Given the description of an element on the screen output the (x, y) to click on. 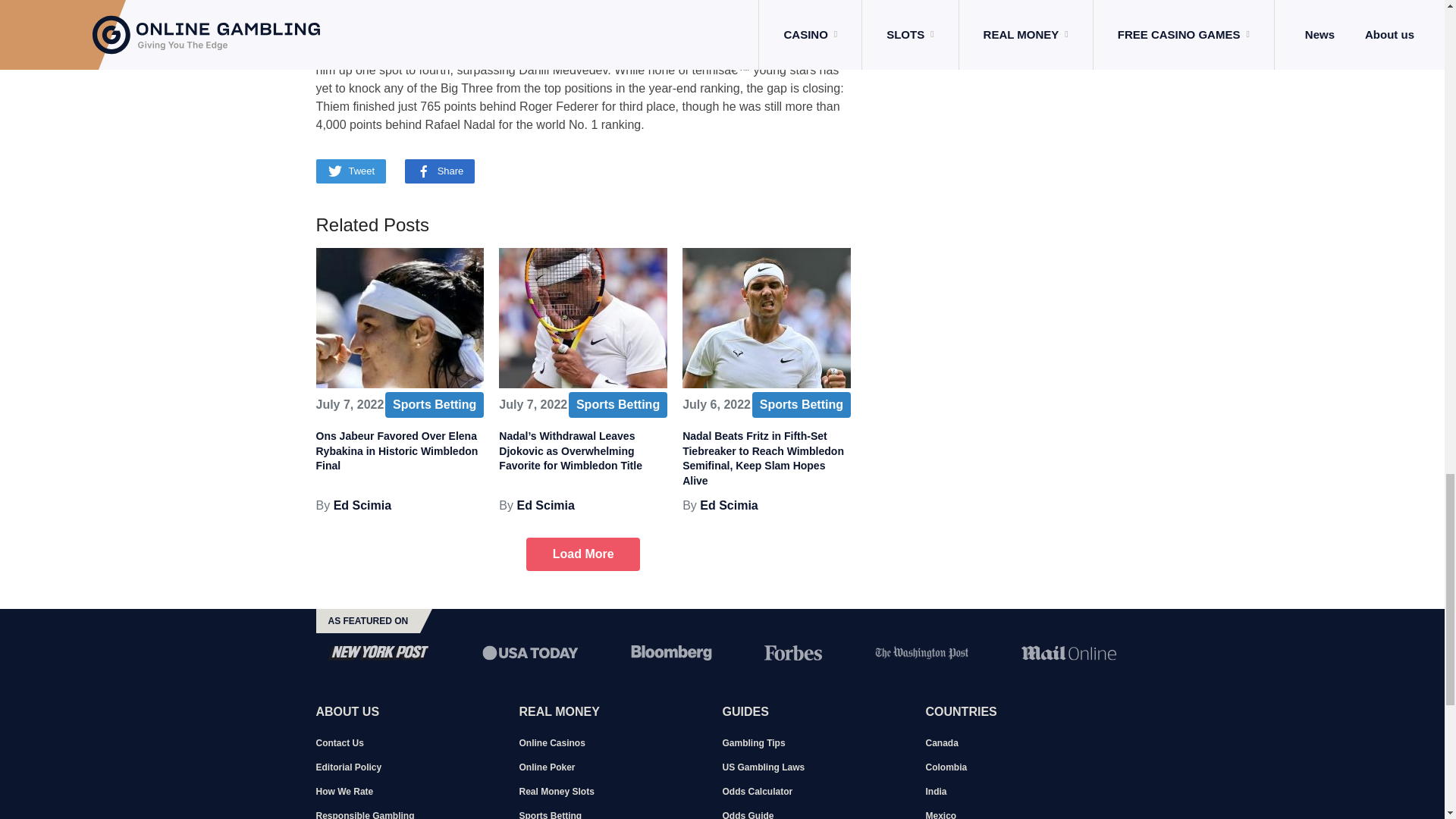
Share this on Facebook (440, 170)
Tweet this on Twitter (350, 170)
Sports Betting (801, 404)
Sports Betting (434, 404)
Sports Betting (617, 404)
